Given the description of an element on the screen output the (x, y) to click on. 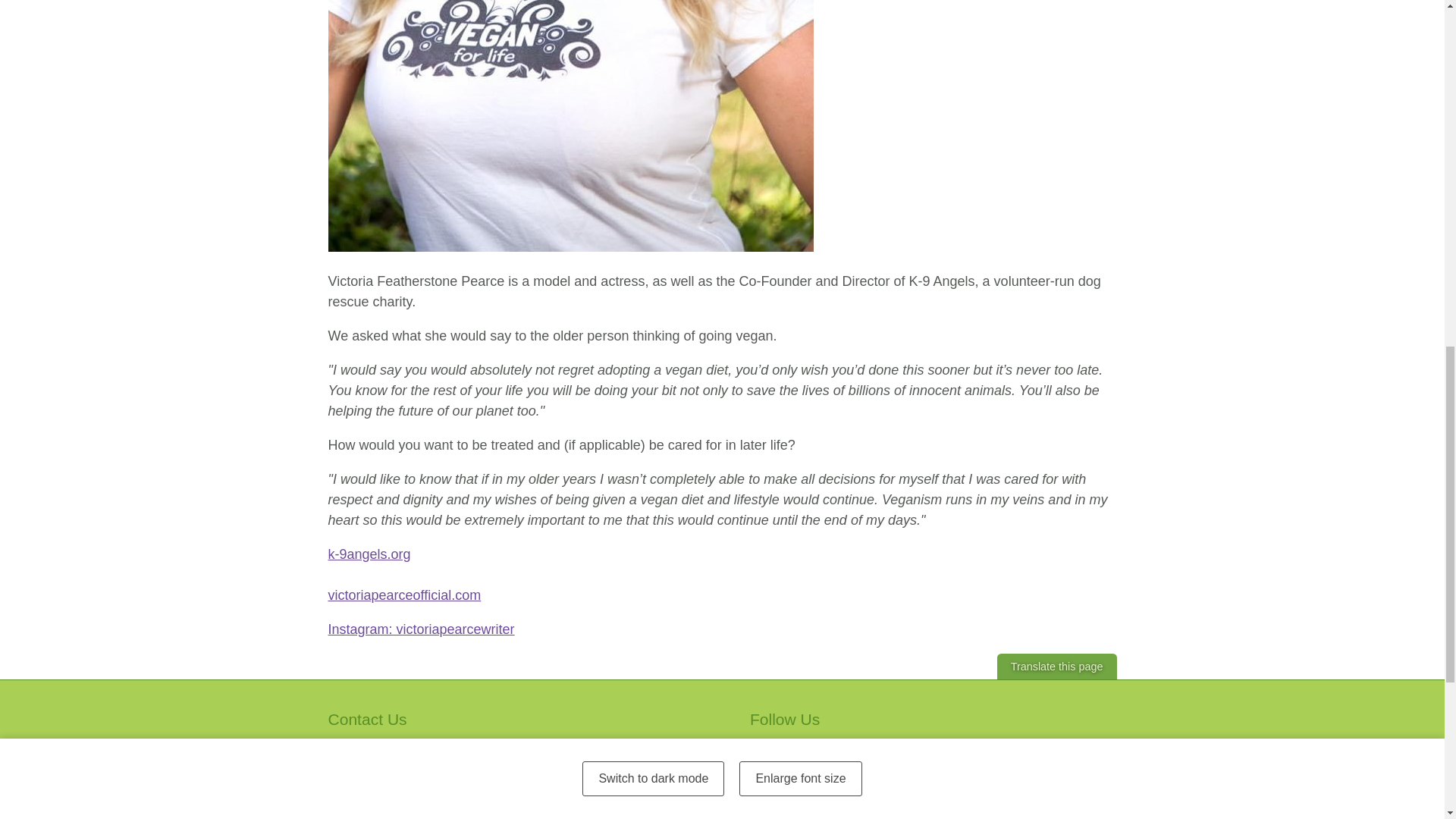
k-9angels.org (368, 554)
Instagram: victoriapearcewriter (420, 629)
victoriapearceofficial.com (403, 595)
Translate this page (1056, 666)
